Given the description of an element on the screen output the (x, y) to click on. 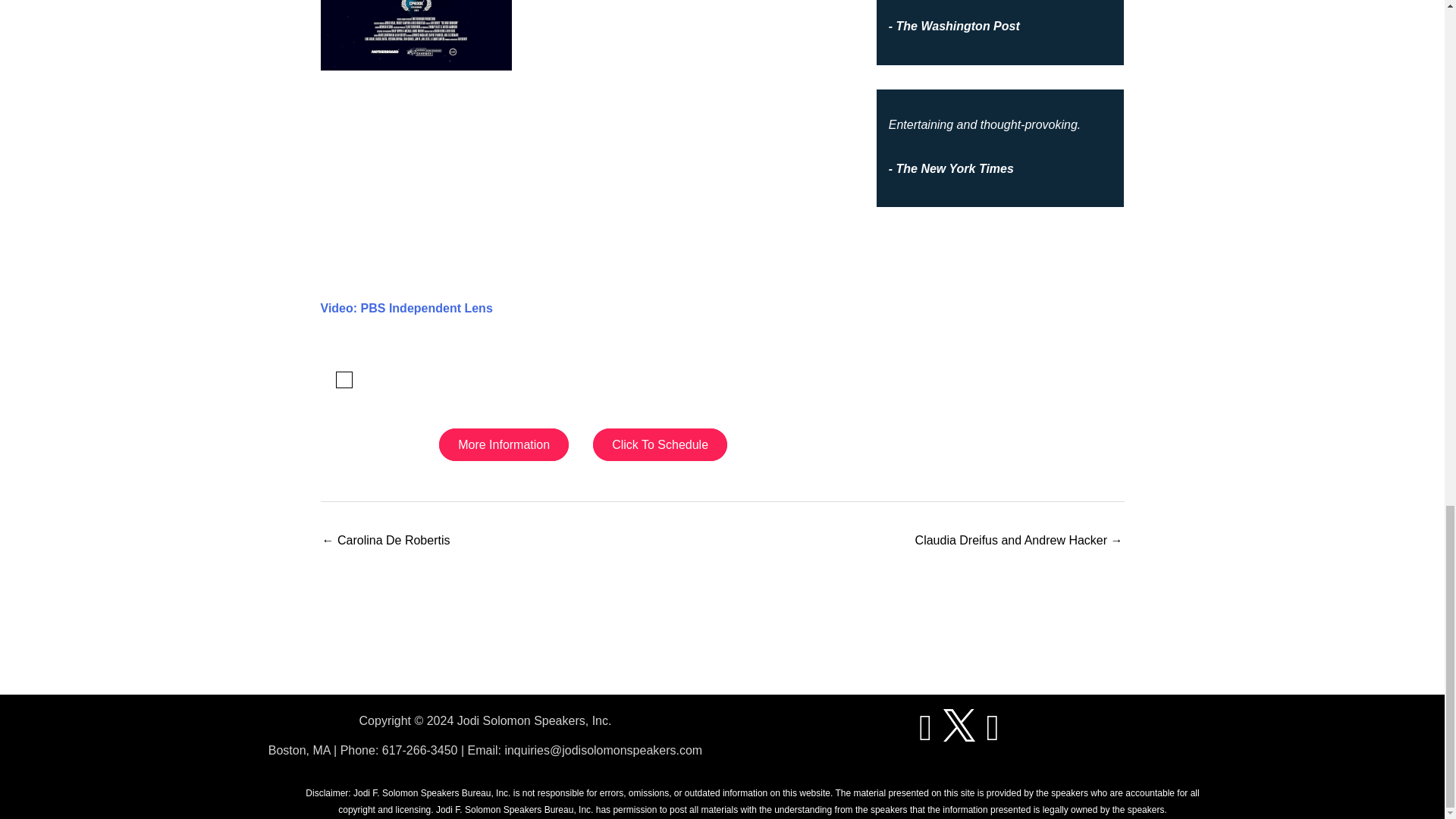
Click To Schedule (659, 444)
More Information (504, 444)
Video: PBS Independent Lens (406, 308)
